Given the description of an element on the screen output the (x, y) to click on. 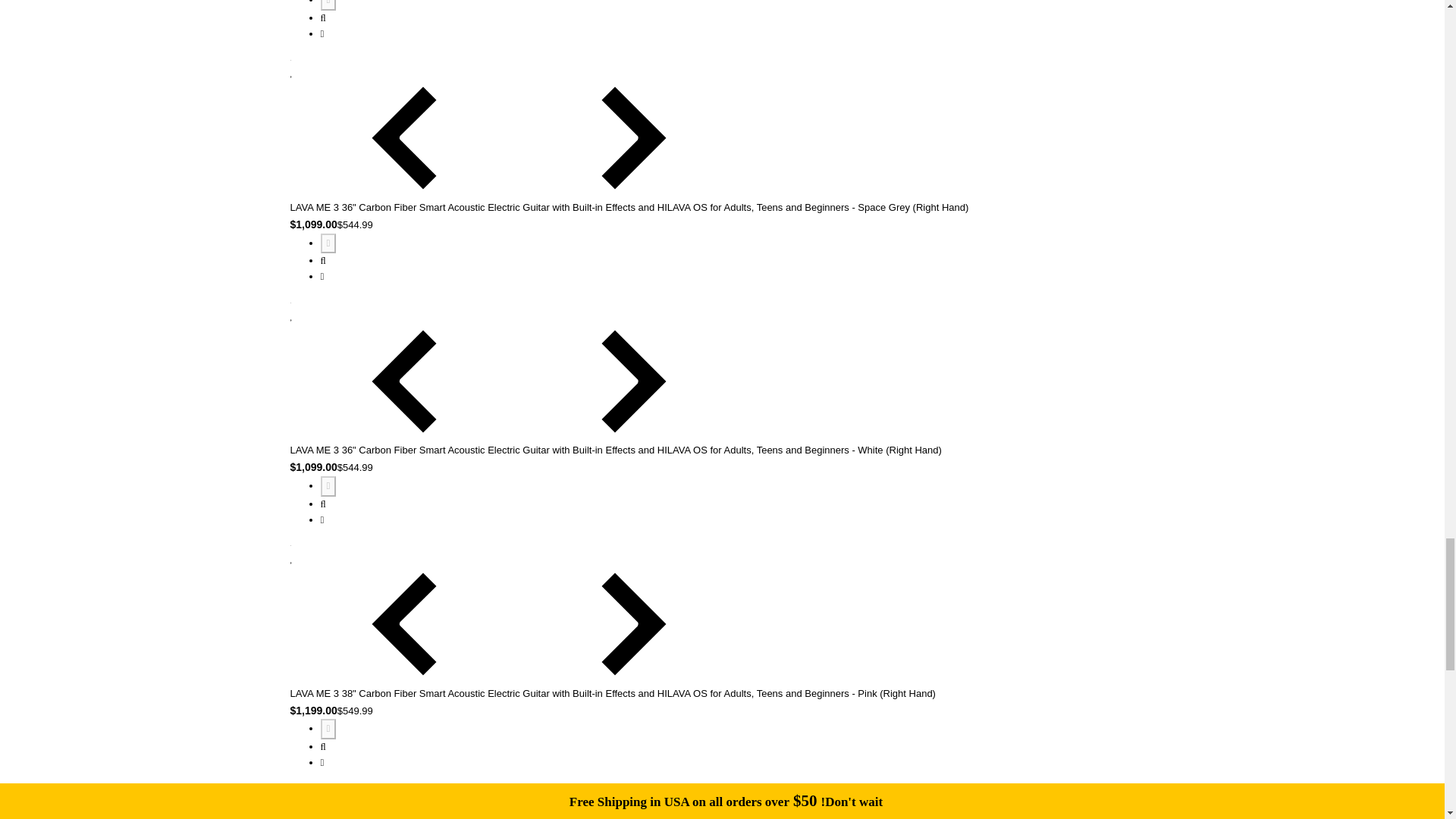
Add to cart (328, 5)
